Given the description of an element on the screen output the (x, y) to click on. 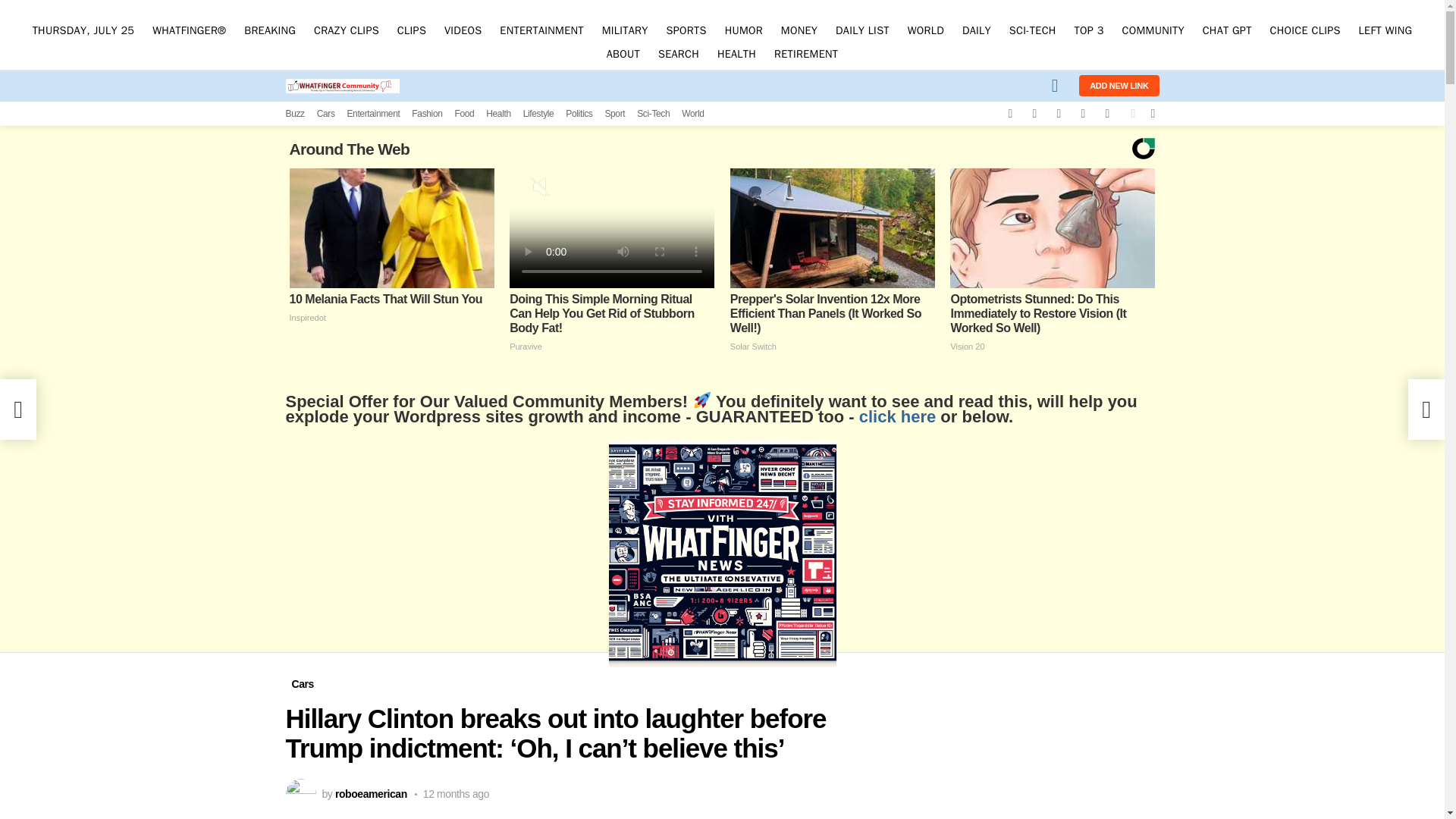
CHOICE CLIPS (1305, 30)
TOP 3 (1087, 30)
WORLD (925, 30)
Entertainment (372, 113)
HUMOR (743, 30)
facebook (1009, 113)
DAILY (976, 30)
SPORTS (686, 30)
Health (498, 113)
Posts by roboeamerican (370, 793)
MONEY (799, 30)
ADD NEW LINK (1118, 85)
HEALTH (736, 54)
RETIREMENT (806, 54)
Lifestyle (538, 113)
